Given the description of an element on the screen output the (x, y) to click on. 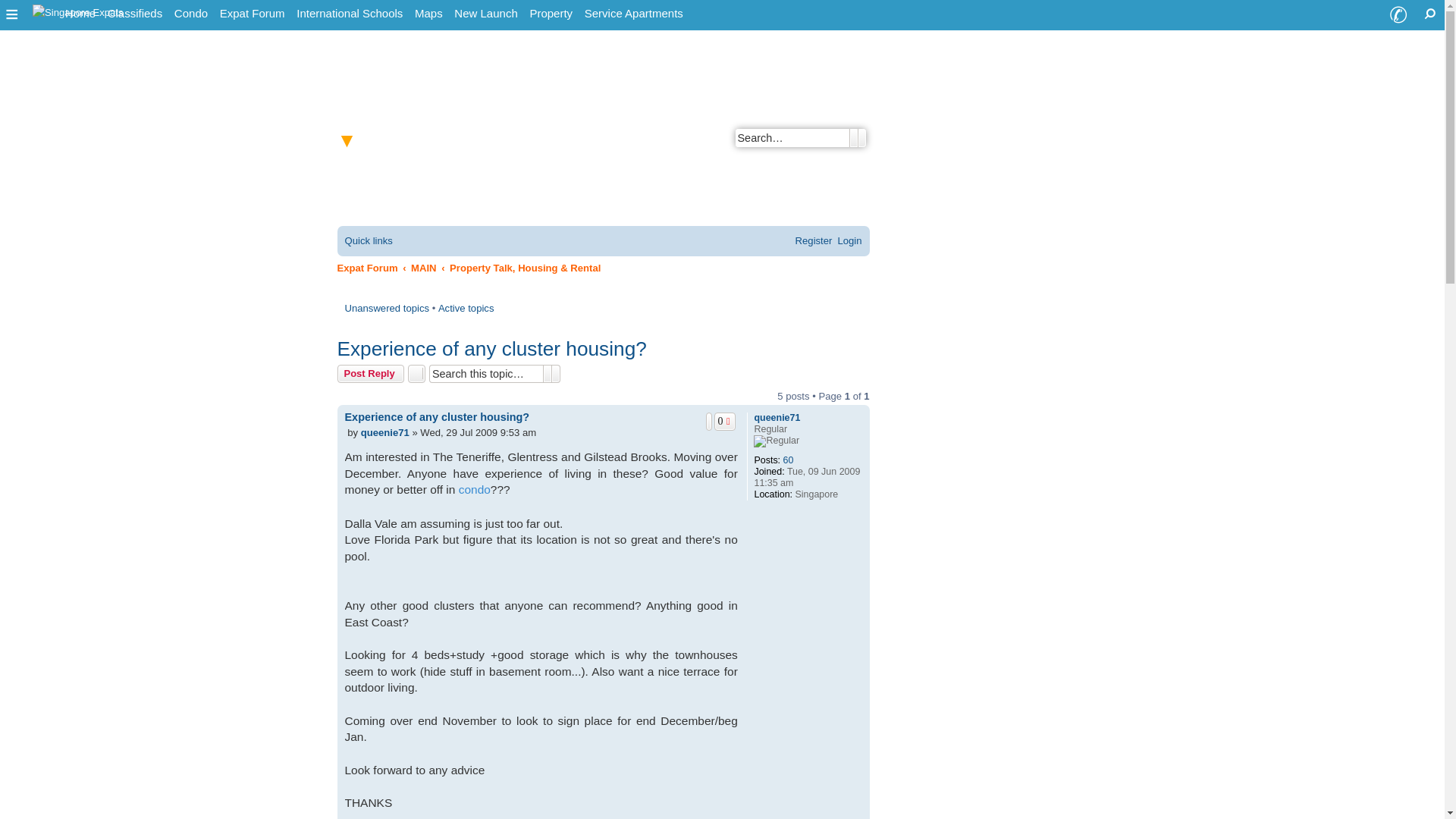
Singapore Service Apartments (633, 13)
New Property Launch (485, 13)
Expat Forum (252, 13)
Singapore International Schools (349, 13)
Singapore Street Maps (428, 13)
International Schools (349, 13)
New Launch (485, 13)
Singapore Property (550, 13)
Singapore Expats (78, 11)
Maps (428, 13)
Singapore Expats (80, 13)
Service Apartments (633, 13)
Condo (191, 13)
Classifieds (135, 13)
Property (550, 13)
